Given the description of an element on the screen output the (x, y) to click on. 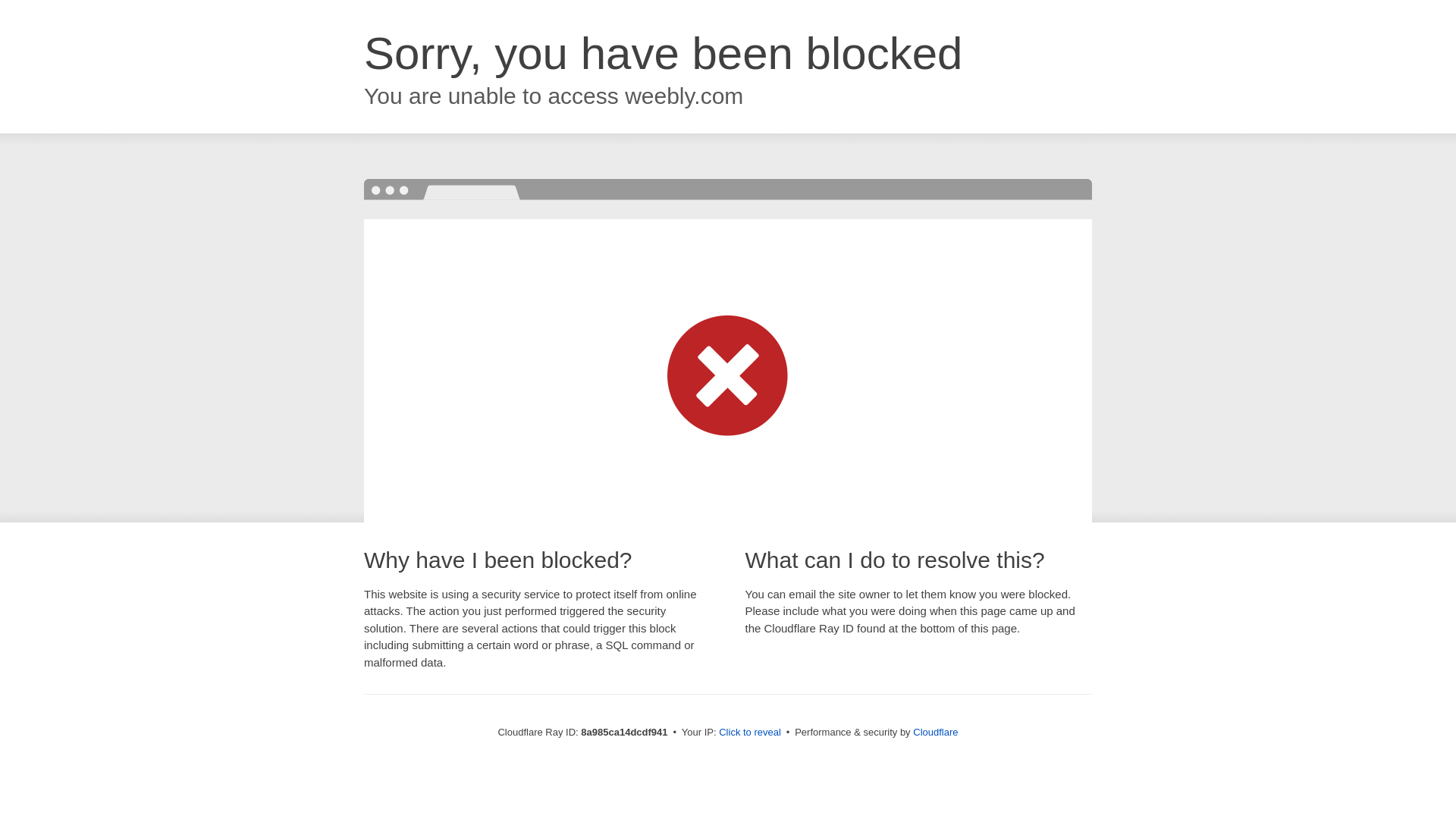
Cloudflare (935, 731)
Click to reveal (749, 732)
